Given the description of an element on the screen output the (x, y) to click on. 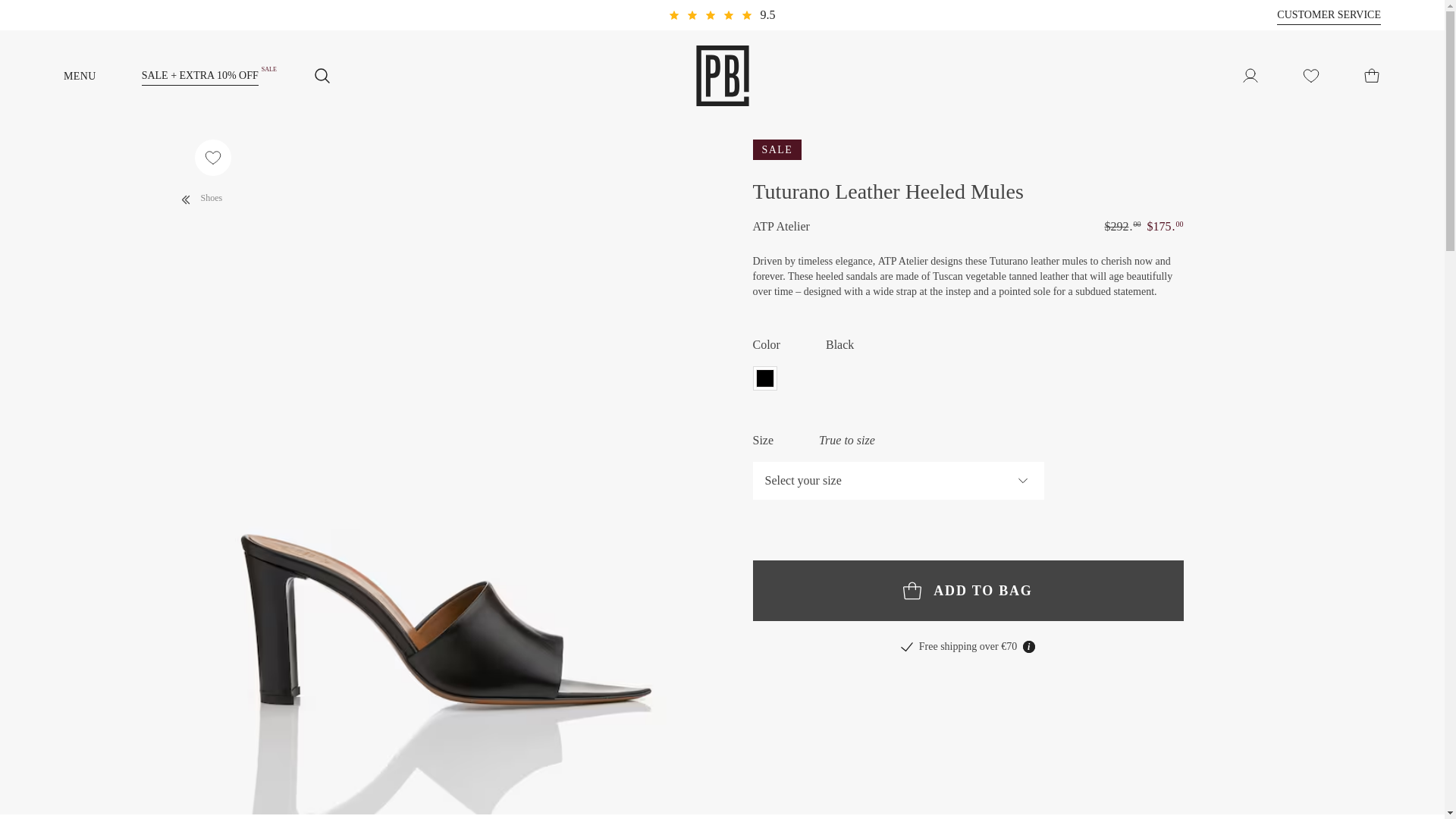
CUSTOMER SERVICE (1328, 14)
Select your size (897, 480)
i (1029, 646)
ADD TO BAG (967, 590)
9.5 (721, 14)
Black (764, 378)
MENU (102, 74)
Shoes (199, 196)
ATP Atelier (780, 226)
